Given the description of an element on the screen output the (x, y) to click on. 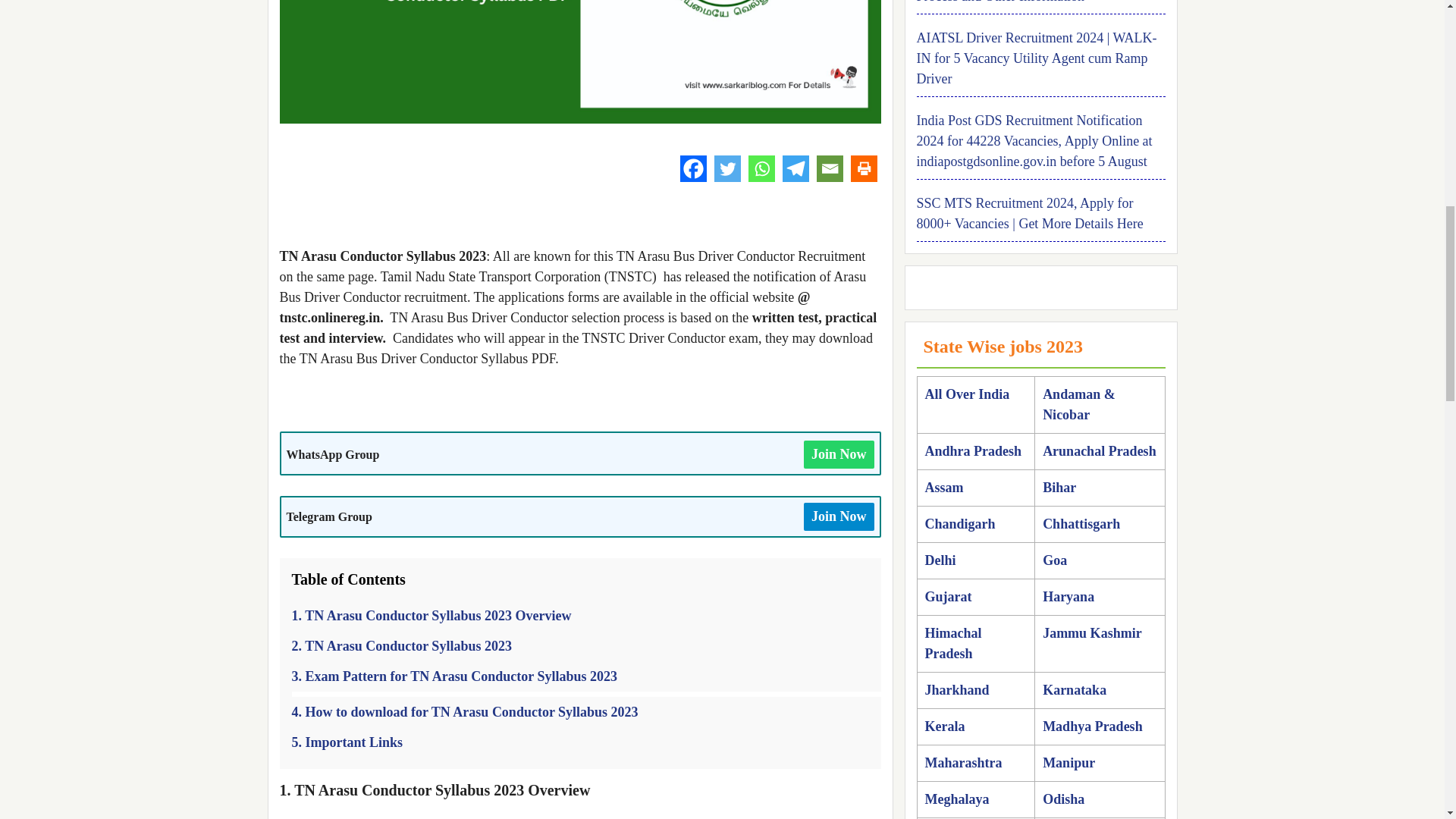
1. TN Arasu Conductor Syllabus 2023 Overview (430, 615)
Twitter (727, 168)
4. How to download for TN Arasu Conductor Syllabus 2023 (464, 711)
Whatsapp (761, 168)
5. Important Links (347, 742)
TN Arasu Conductor Syllabus 2023 (579, 61)
2. TN Arasu Conductor Syllabus 2023 (401, 645)
Join Now (839, 454)
Facebook (692, 168)
3. Exam Pattern for TN Arasu Conductor Syllabus 2023 (454, 676)
Join Now (839, 516)
